Given the description of an element on the screen output the (x, y) to click on. 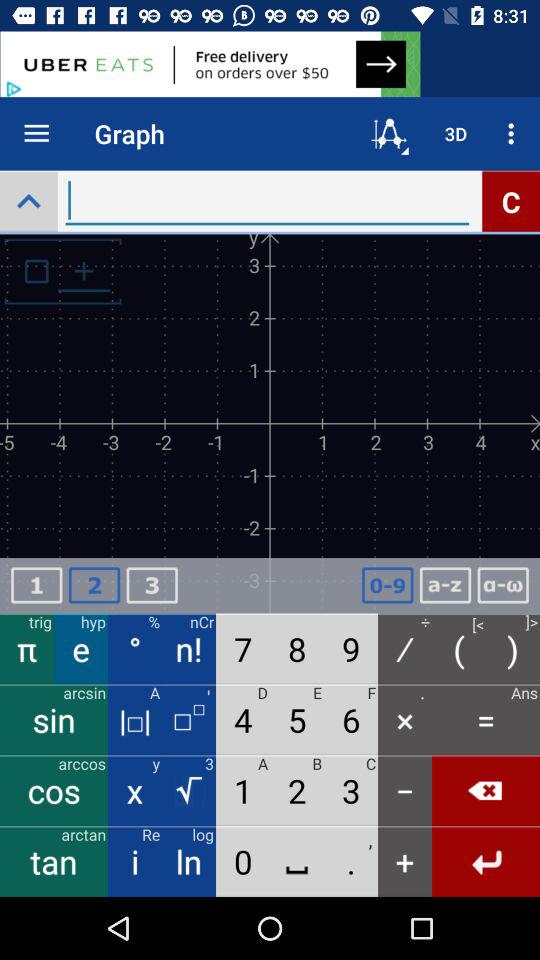
apply formula (503, 585)
